Given the description of an element on the screen output the (x, y) to click on. 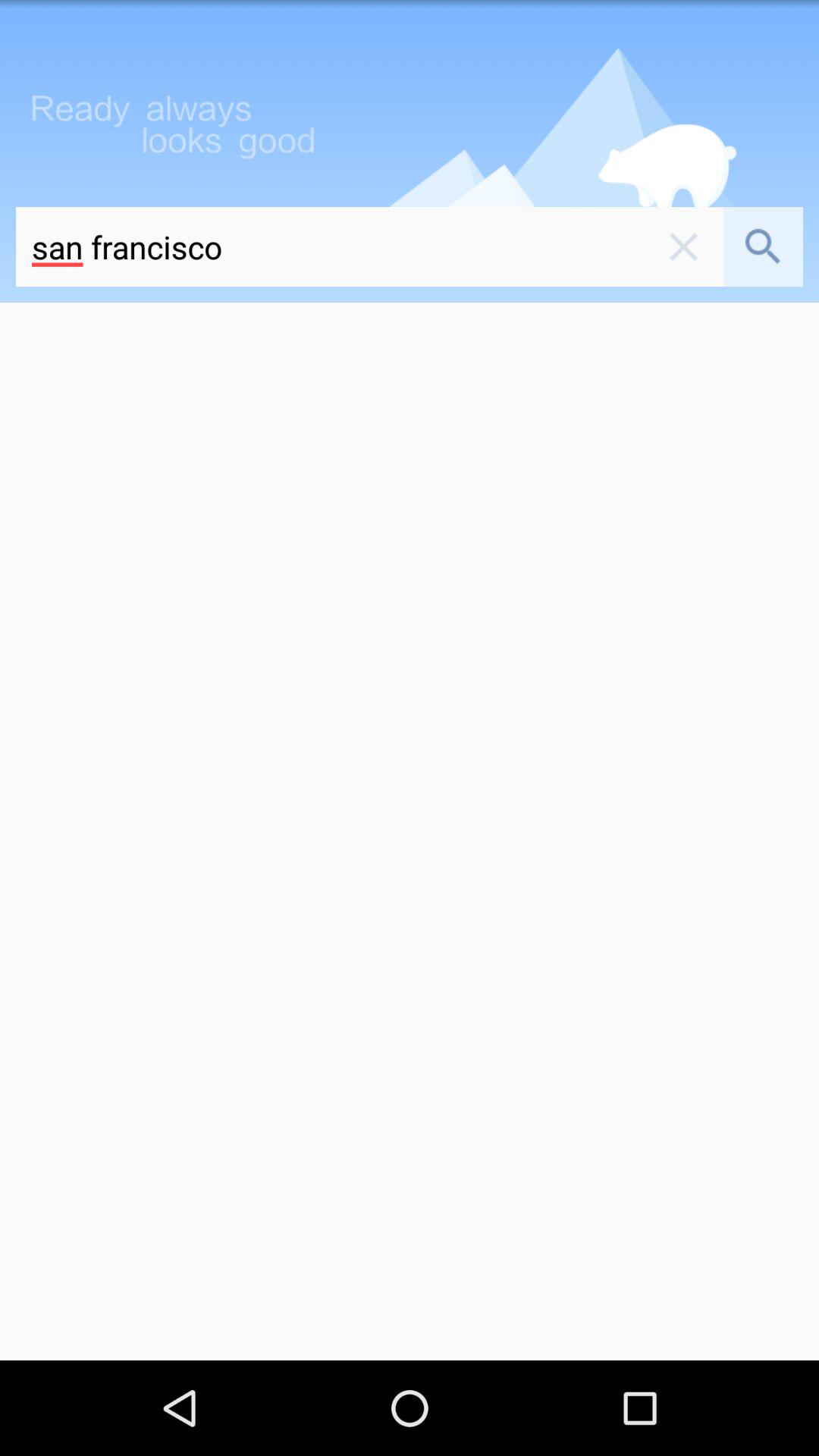
swipe until the san francisco item (329, 246)
